Given the description of an element on the screen output the (x, y) to click on. 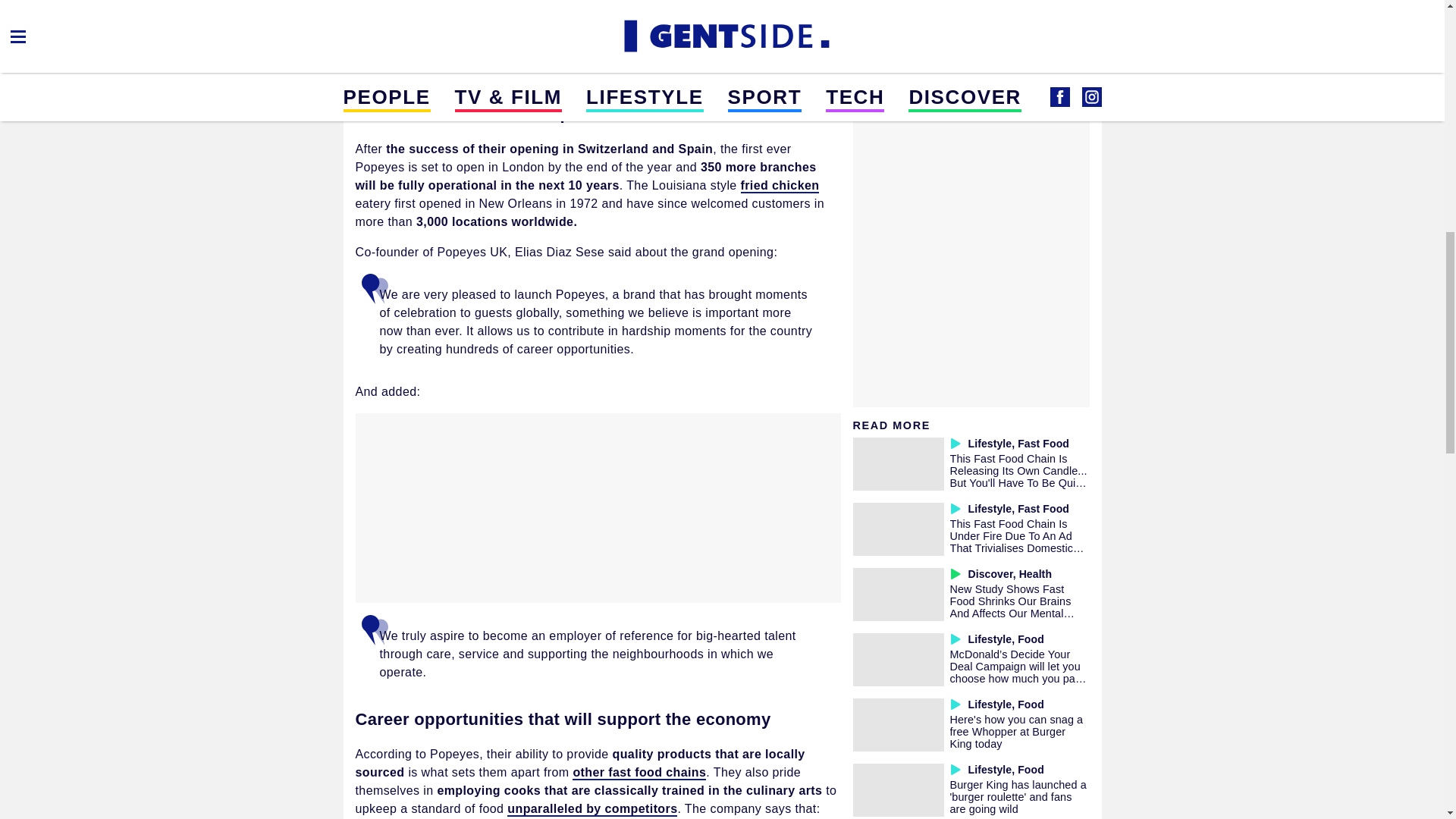
other fast food chains (639, 772)
fried chicken (778, 186)
unparalleled by competitors (591, 809)
